Given the description of an element on the screen output the (x, y) to click on. 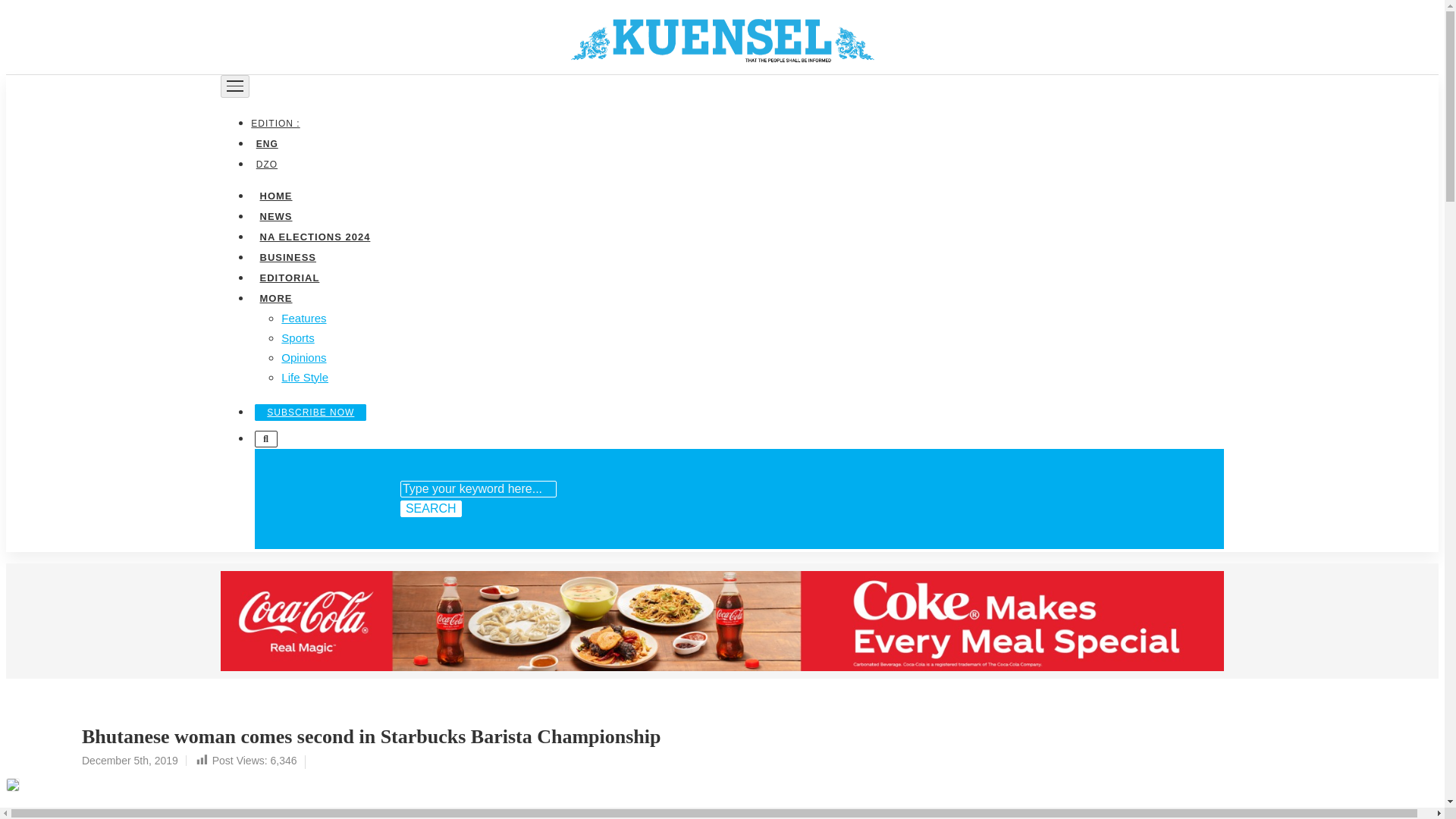
Life Style (305, 376)
Sports (297, 336)
SEARCH (430, 508)
NA ELECTIONS 2024 (314, 235)
EDITORIAL (288, 276)
Features (303, 317)
Opinions (303, 356)
SUBSCRIBE NOW (310, 411)
HOME (274, 194)
DZO (266, 163)
NEWS (274, 215)
BUSINESS (287, 256)
ENG (266, 143)
EDITION : (277, 122)
MORE (274, 297)
